Given the description of an element on the screen output the (x, y) to click on. 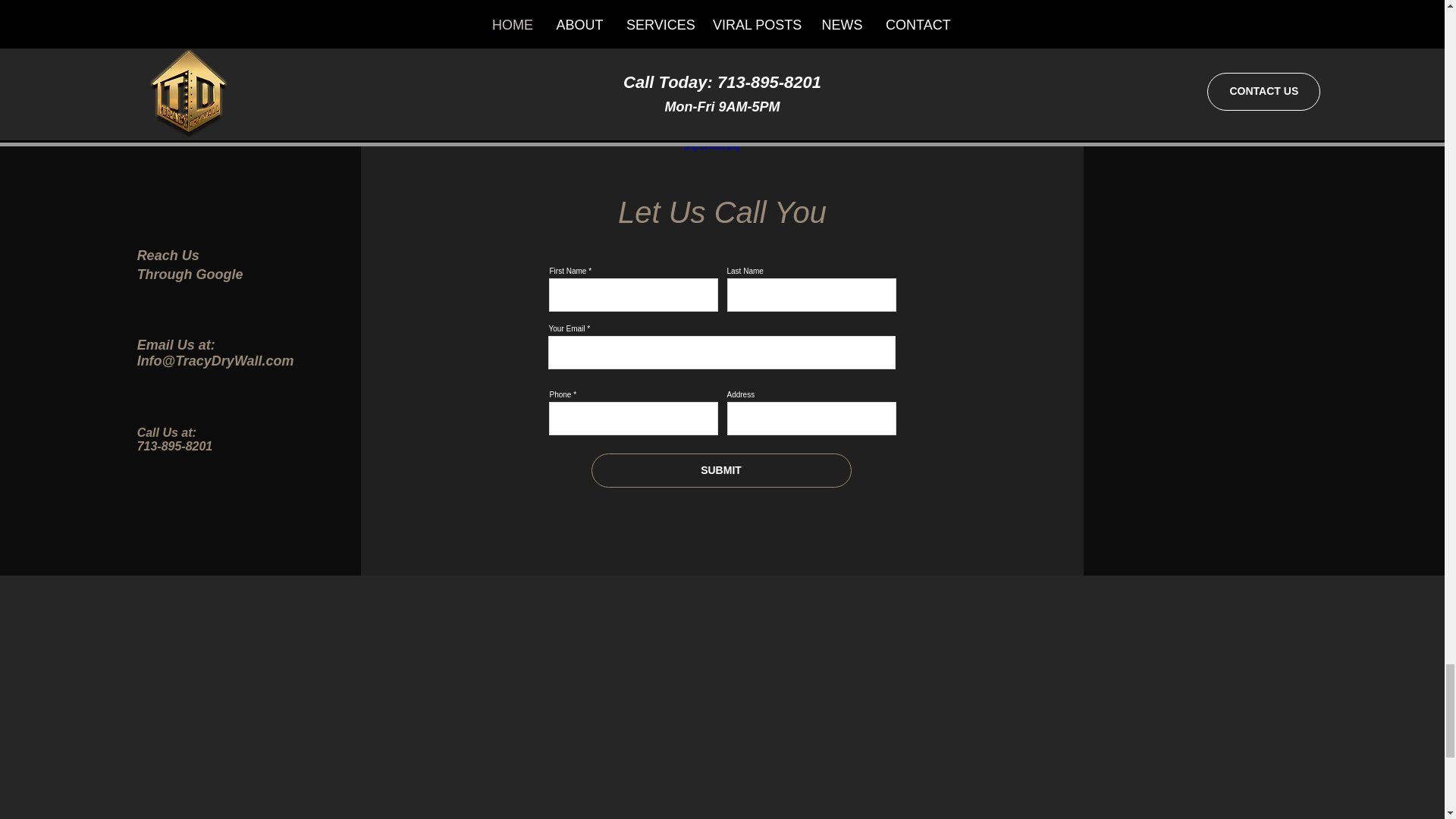
Call Us at: (166, 431)
713-895-8201 (174, 445)
SUBMIT (721, 470)
Reach Us (167, 255)
Through Google (189, 273)
